Given the description of an element on the screen output the (x, y) to click on. 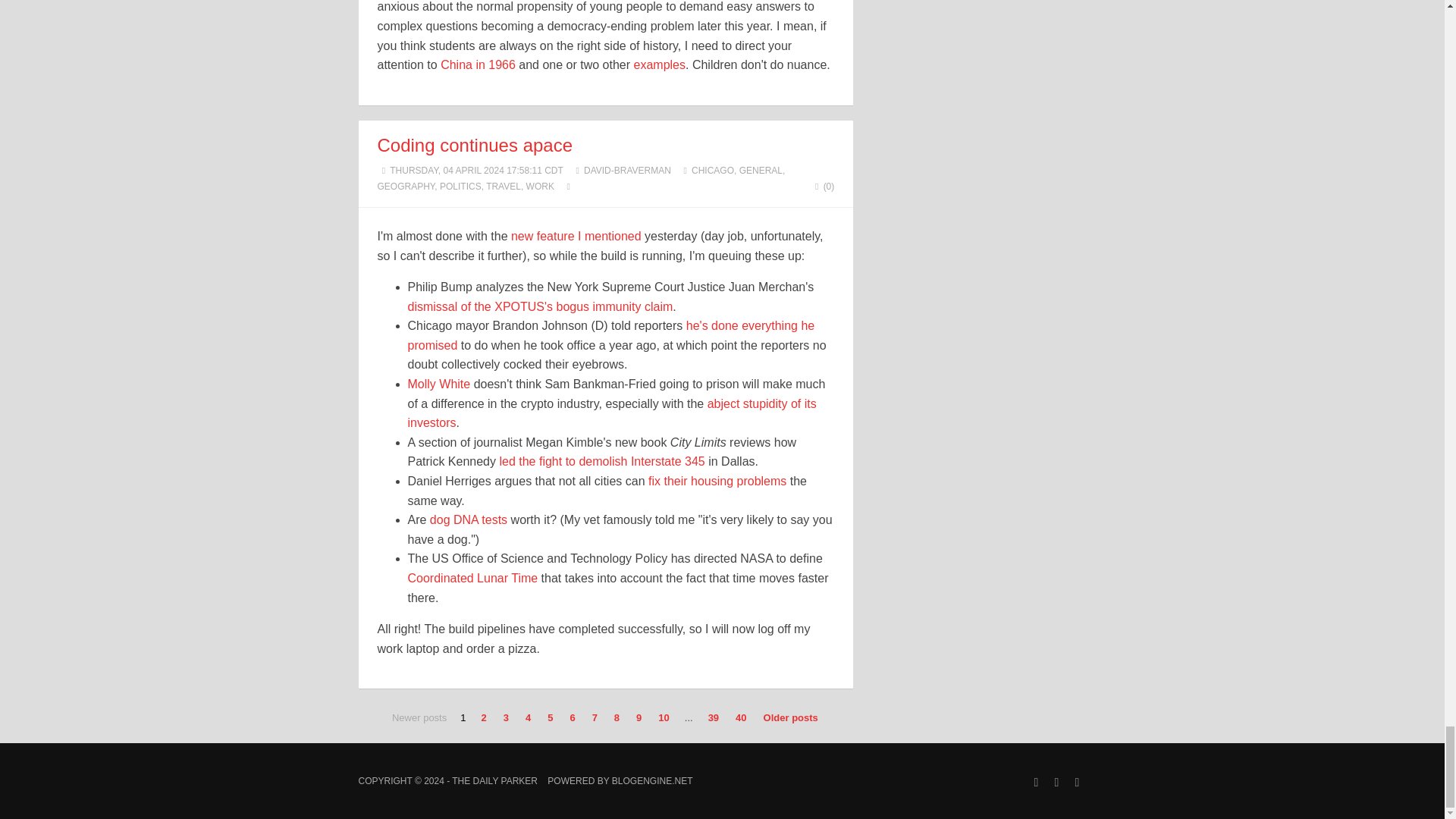
Open a map of the location where this post was written (568, 185)
